Given the description of an element on the screen output the (x, y) to click on. 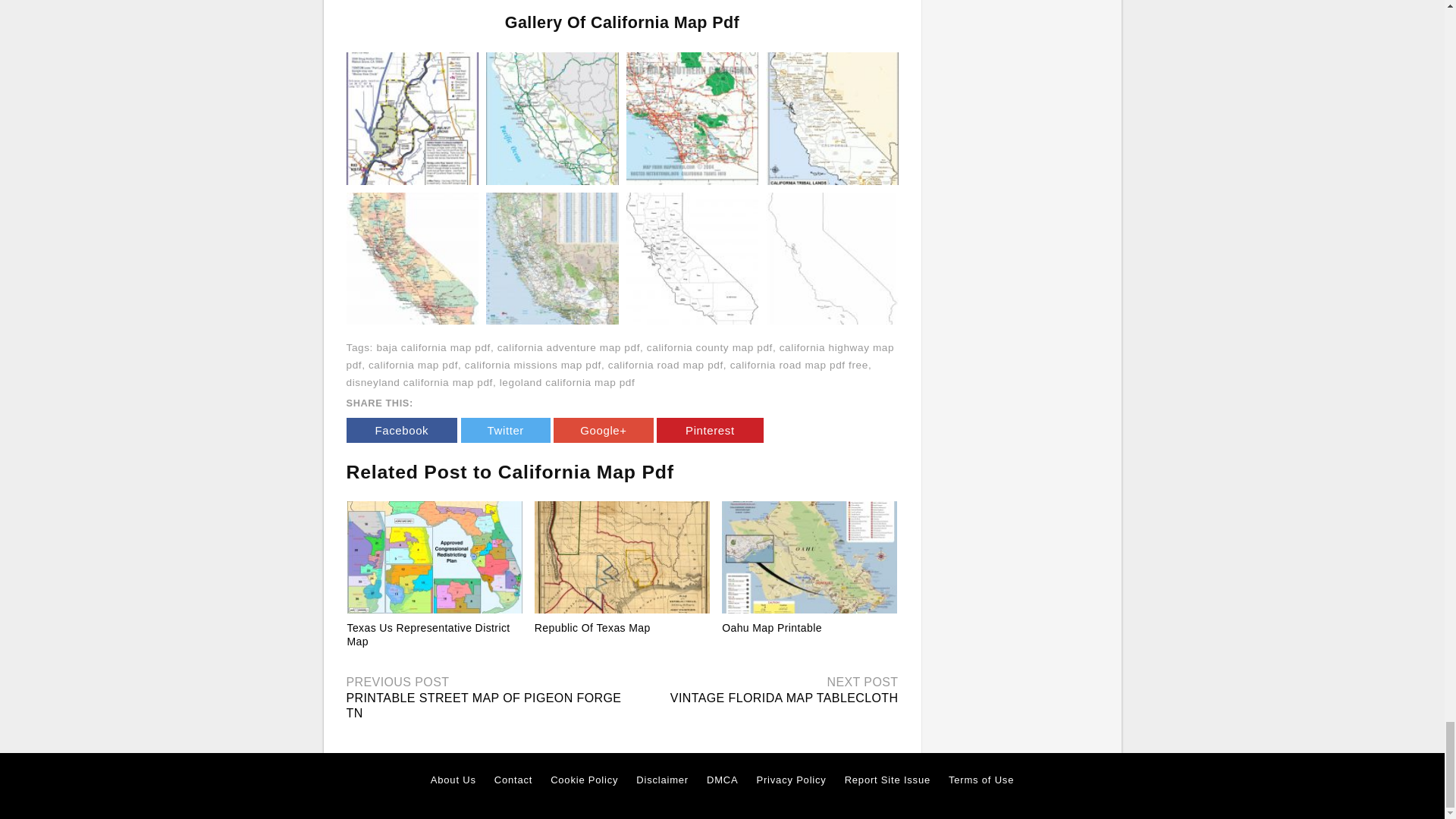
california adventure map pdf (568, 347)
Oahu Map Printable (772, 626)
california road map pdf (665, 365)
Twitter (505, 430)
legoland california map pdf (566, 382)
California Map   California Map Pdf (552, 117)
PRINTABLE STREET MAP OF PIGEON FORGE TN (483, 705)
Republic Of Texas Map (592, 626)
california highway map pdf (619, 356)
california road map pdf free (798, 365)
VINTAGE FLORIDA MAP TABLECLOTH (783, 697)
Pinterest (709, 430)
Facebook (401, 430)
